Given the description of an element on the screen output the (x, y) to click on. 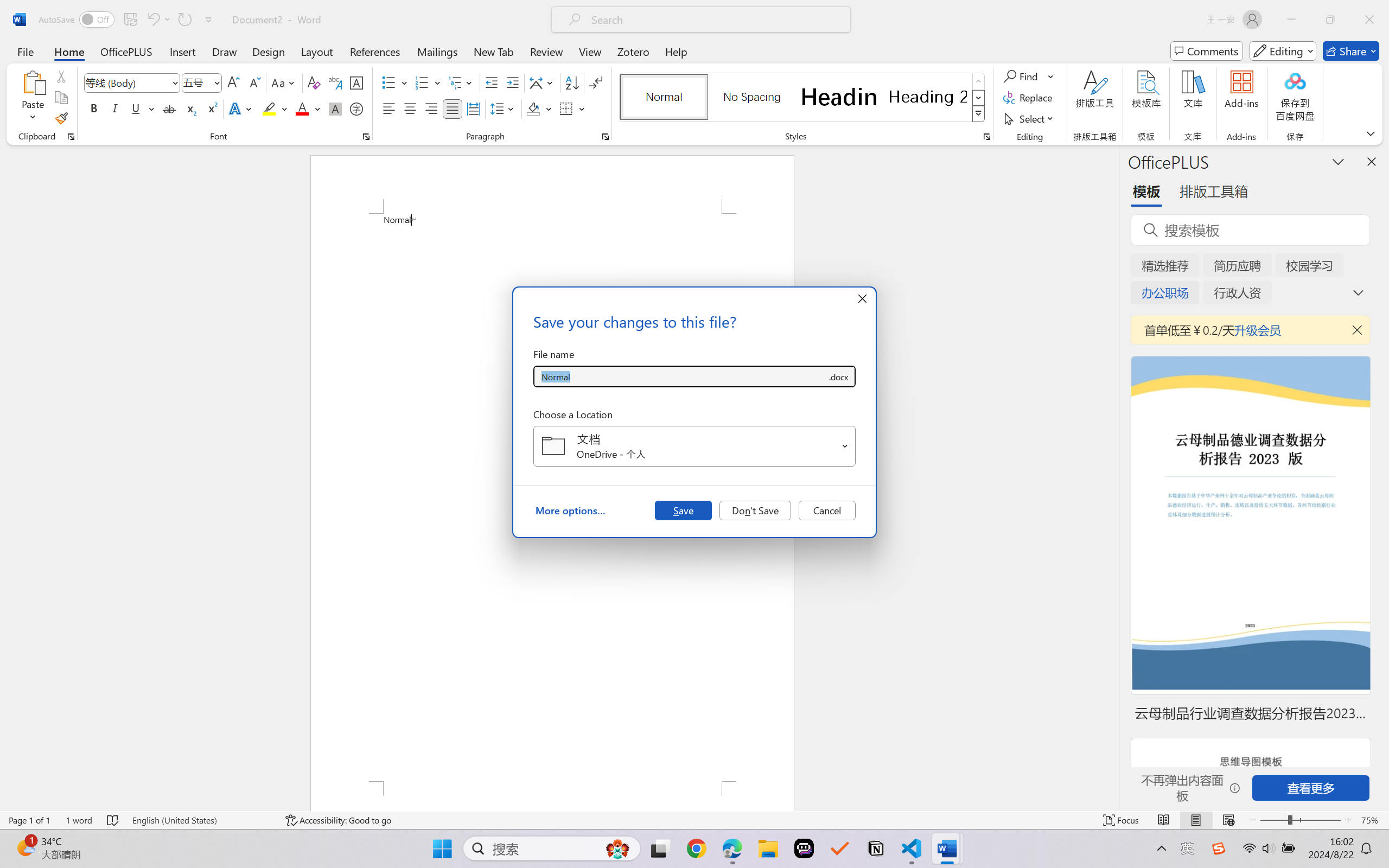
Multilevel List (461, 82)
Superscript (210, 108)
Character Shading (334, 108)
Class: MsoCommandBar (694, 819)
Numbering (428, 82)
Notion (875, 848)
Page Number Page 1 of 1 (29, 819)
Justify (452, 108)
Asian Layout (542, 82)
Cancel (826, 509)
Text Highlight Color (274, 108)
Web Layout (1228, 819)
Sort... (571, 82)
